Given the description of an element on the screen output the (x, y) to click on. 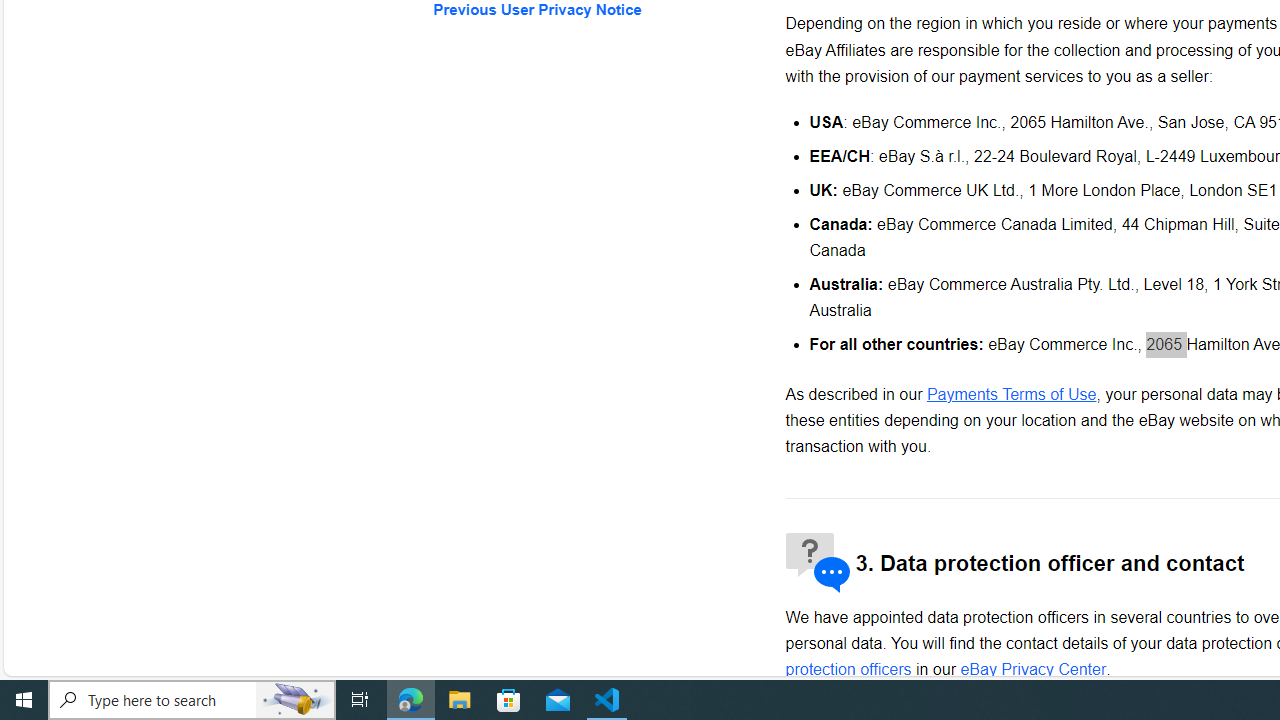
Payments Terms of Use - opens in new window or tab (1010, 394)
eBay Privacy Center - opens in new window or tab (1033, 669)
